Given the description of an element on the screen output the (x, y) to click on. 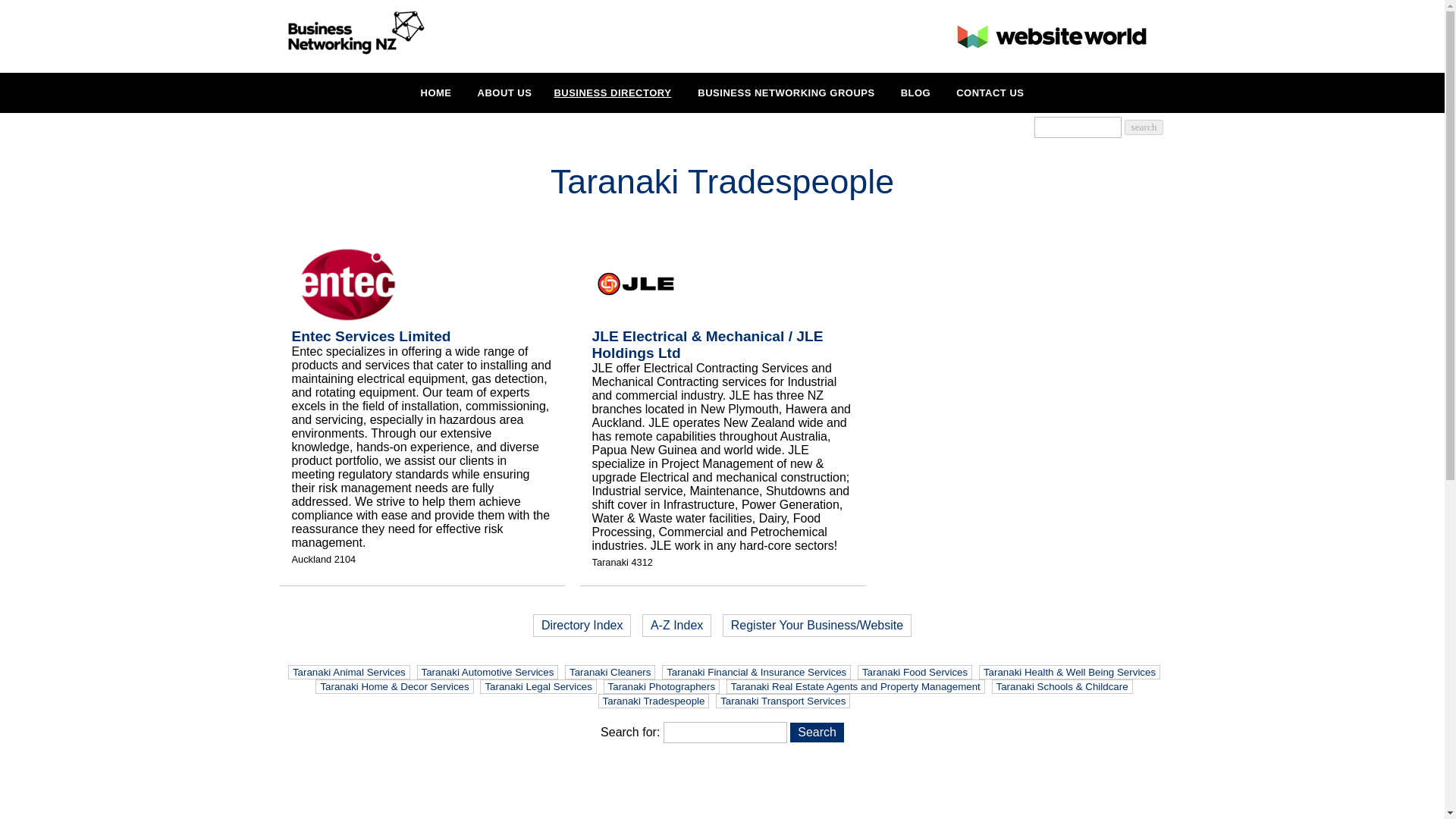
Taranaki Cleaners (609, 672)
BUSINESS NETWORKING GROUPS (785, 92)
Taranaki Legal Services (538, 686)
BLOG (915, 92)
search (1142, 126)
Taranaki Automotive Services (487, 672)
Taranaki Photographers (662, 686)
A-Z Index (676, 625)
Directory Index (581, 625)
Taranaki Animal Services (349, 672)
Entec Services Limited (370, 335)
Search (817, 732)
BUSINESS DIRECTORY (611, 92)
HOME (436, 92)
Taranaki Food Services (914, 672)
